Given the description of an element on the screen output the (x, y) to click on. 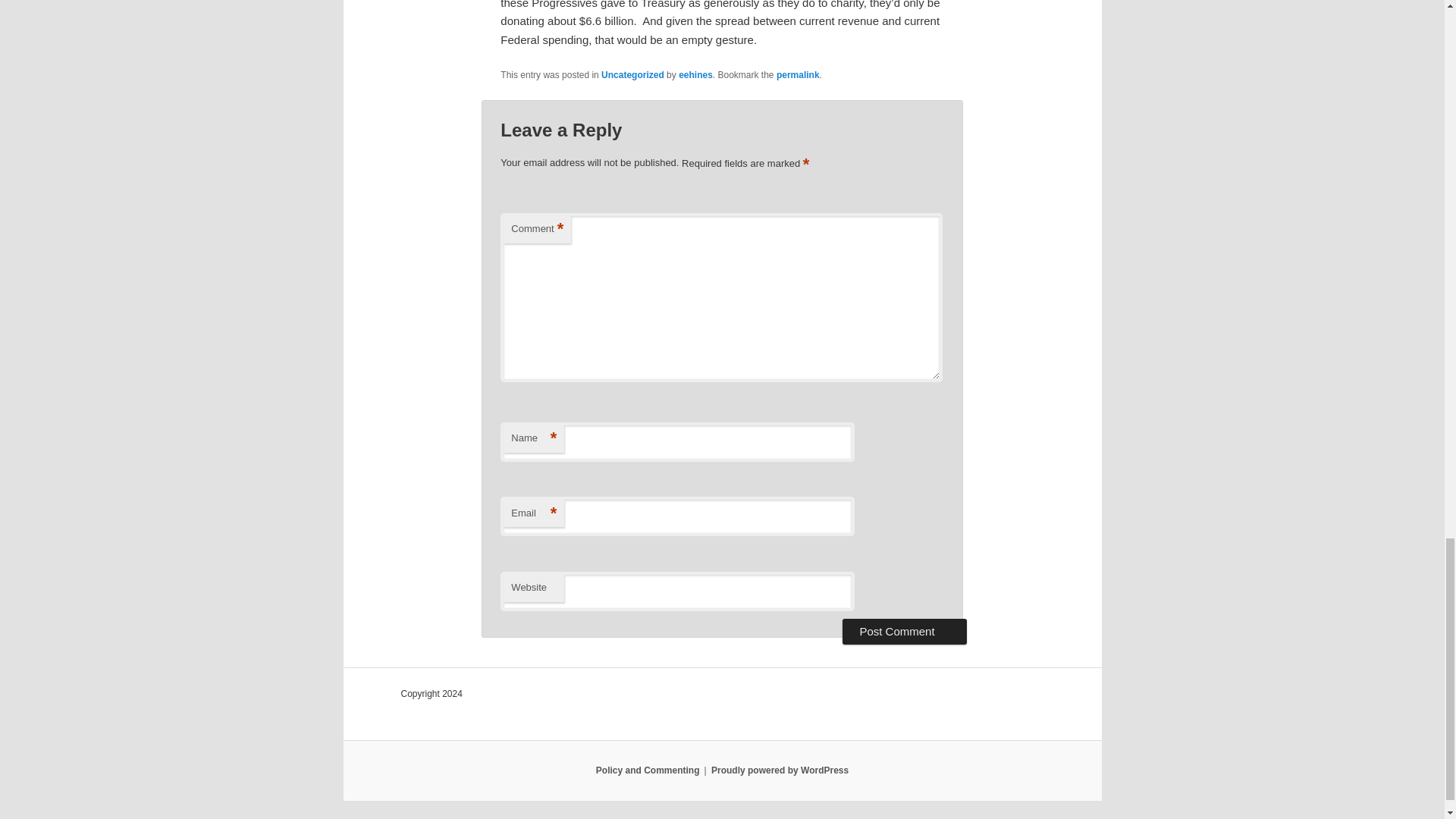
Semantic Personal Publishing Platform (779, 769)
Permalink to Progressives and Taxes (797, 74)
permalink (797, 74)
Post Comment (904, 631)
Uncategorized (632, 74)
Post Comment (904, 631)
Proudly powered by WordPress (779, 769)
Policy and Commenting (647, 769)
eehines (695, 74)
